Given the description of an element on the screen output the (x, y) to click on. 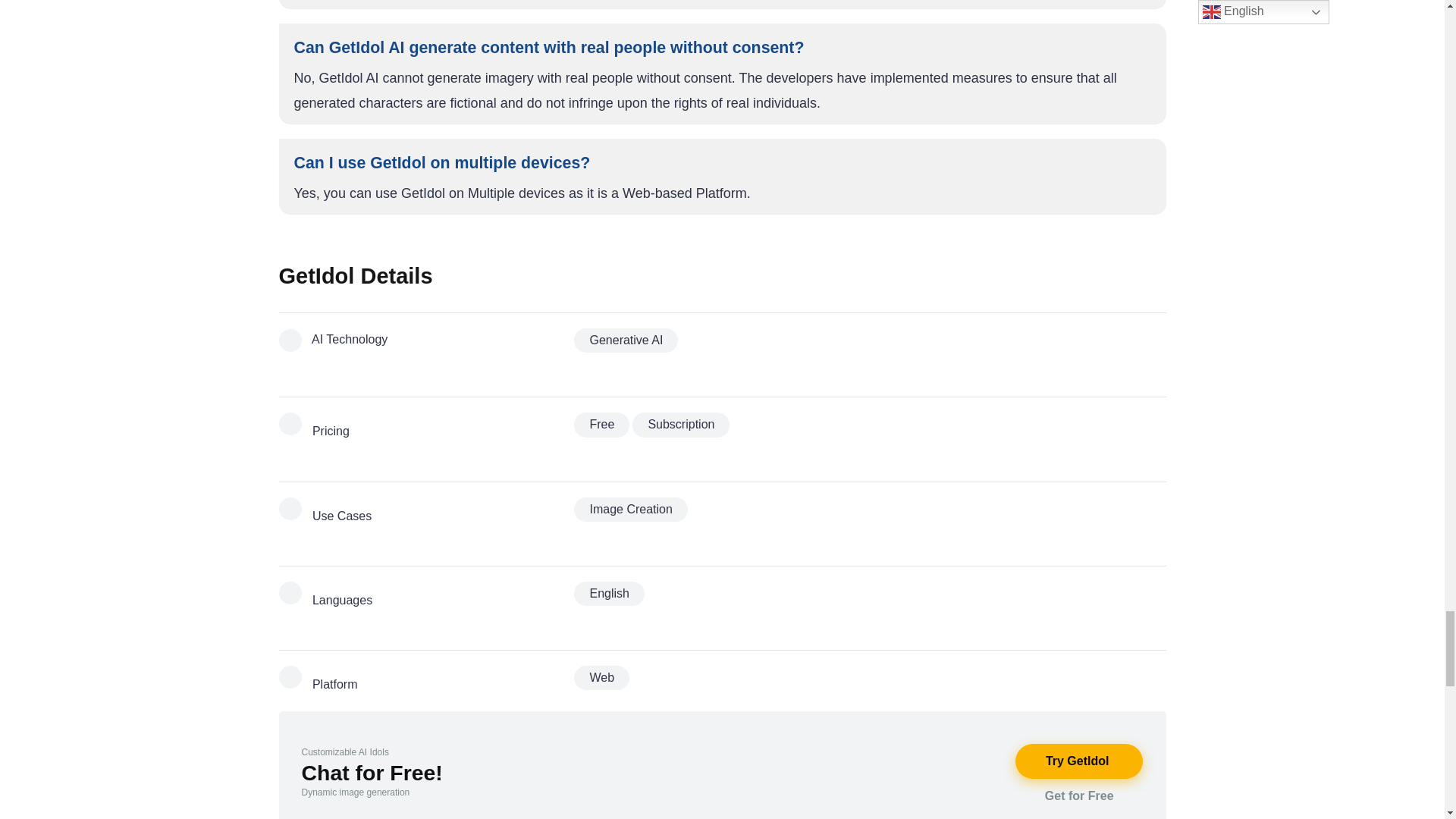
Free (600, 424)
Try GetIdol (1078, 760)
Image Creation (630, 509)
English (608, 593)
Image Creation (630, 509)
Subscription (680, 424)
Free (600, 424)
Generative AI (625, 340)
Subscription (680, 424)
English (608, 593)
Web (600, 677)
Generative AI (625, 340)
Try GetIdol (1078, 760)
Web (600, 677)
